Given the description of an element on the screen output the (x, y) to click on. 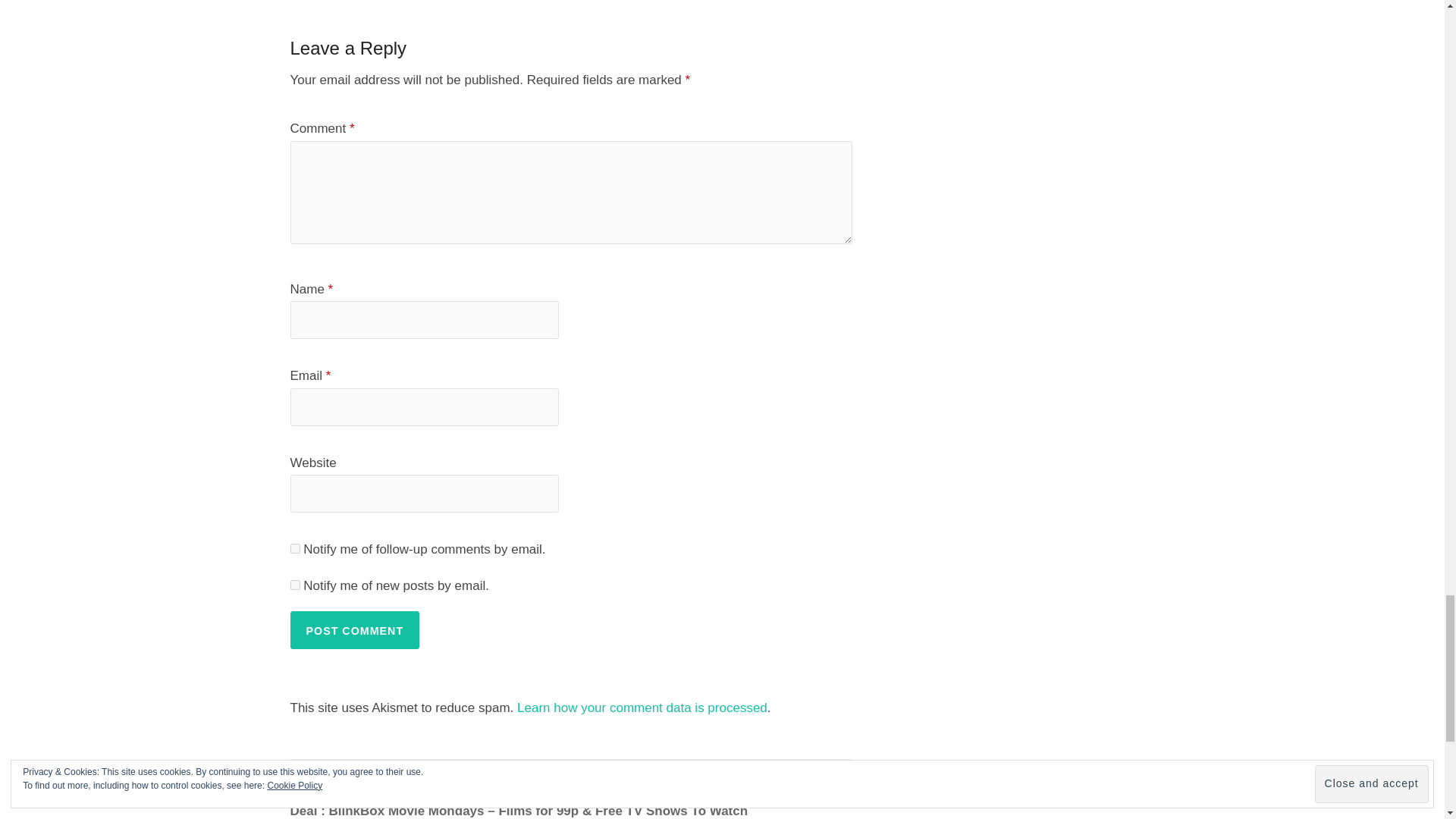
subscribe (294, 584)
Post Comment (354, 629)
subscribe (294, 548)
Post Comment (354, 629)
Learn how your comment data is processed (641, 707)
